Given the description of an element on the screen output the (x, y) to click on. 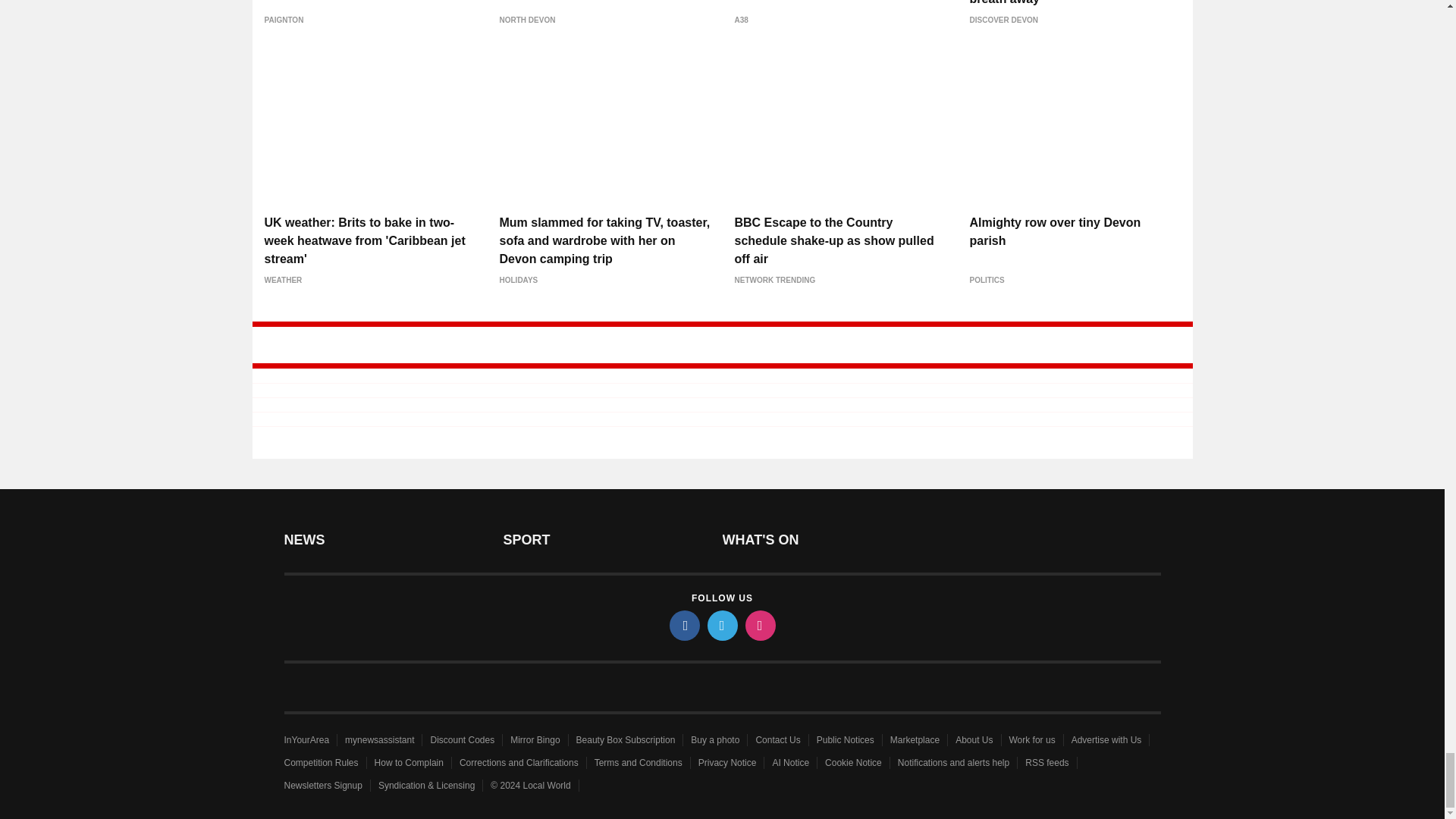
facebook (683, 625)
instagram (759, 625)
twitter (721, 625)
